Given the description of an element on the screen output the (x, y) to click on. 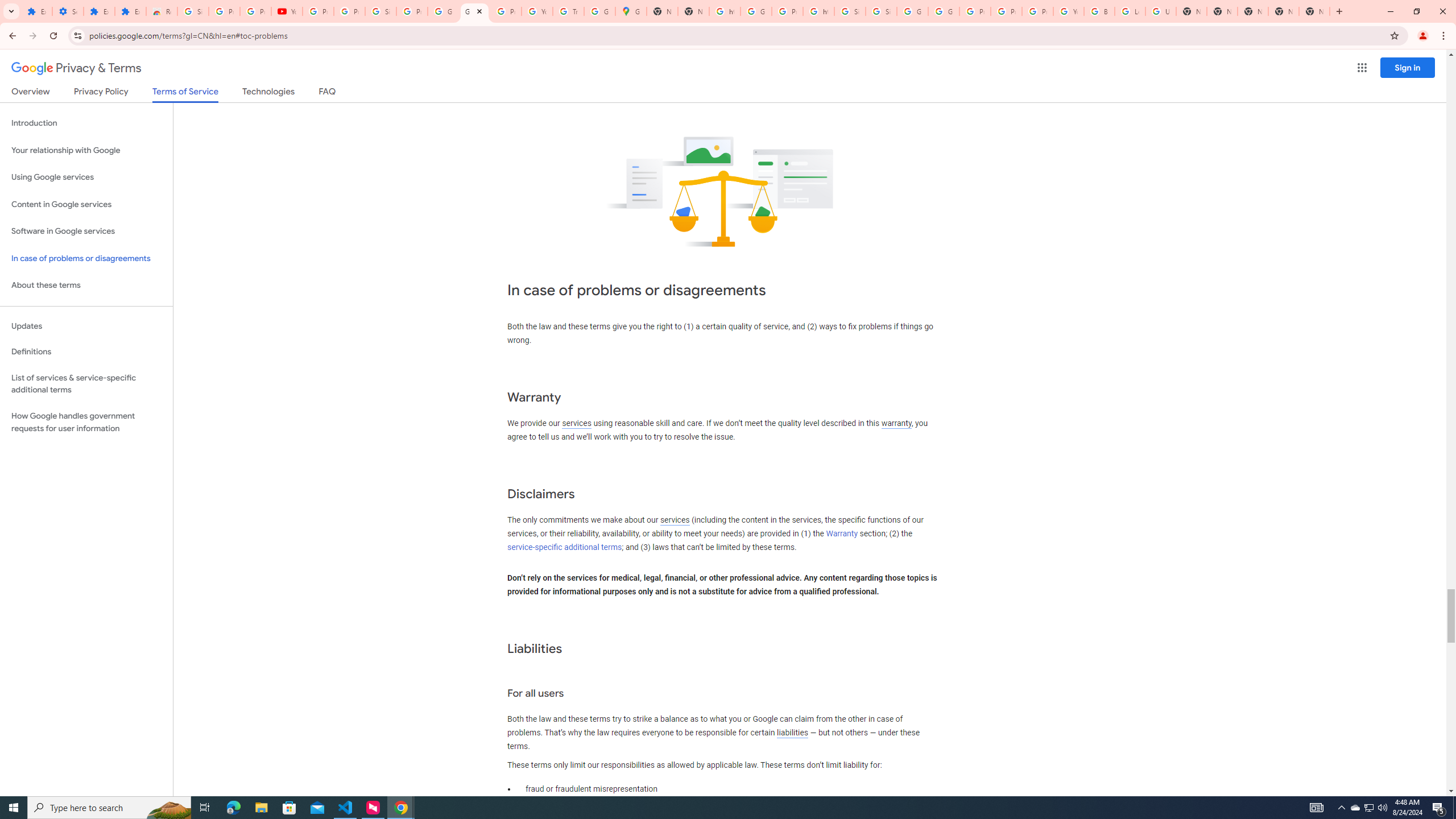
Sign in - Google Accounts (380, 11)
Google Account (443, 11)
Warranty (841, 533)
New Tab (1252, 11)
Your relationship with Google (86, 150)
YouTube (1068, 11)
Privacy Help Center - Policies Help (974, 11)
